Given the description of an element on the screen output the (x, y) to click on. 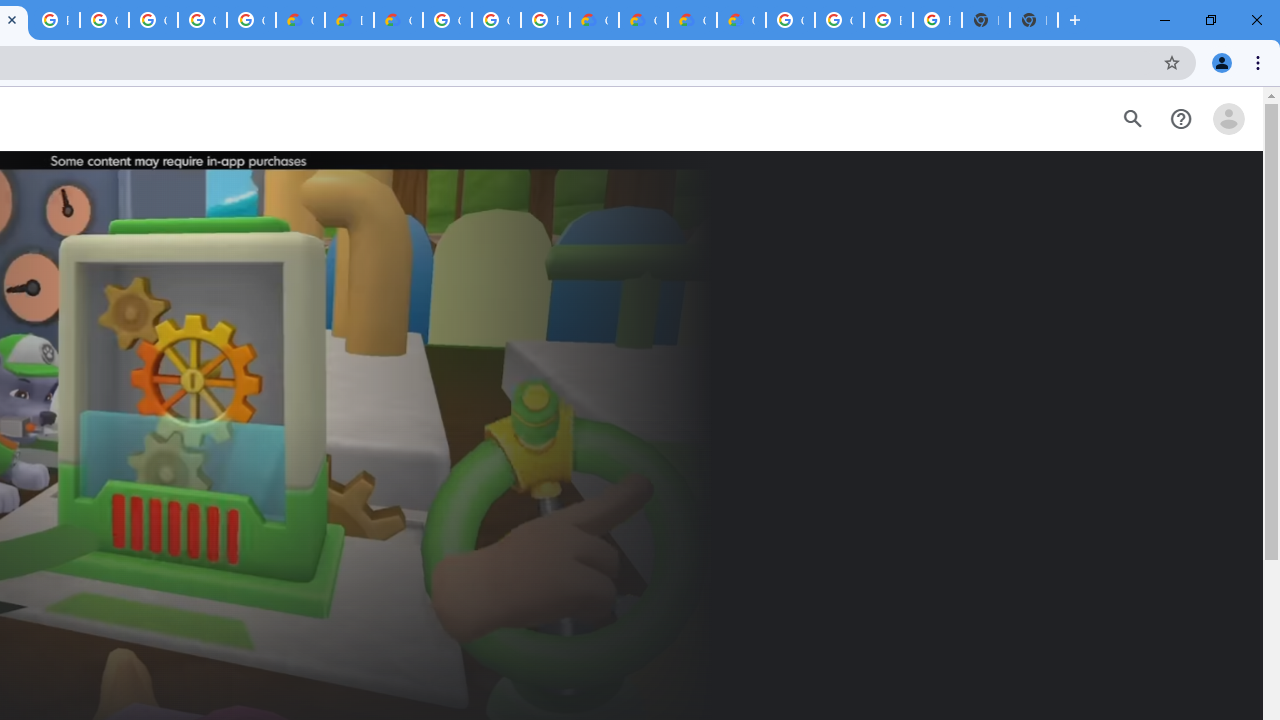
Google Cloud Service Health (740, 20)
Google Cloud Pricing Calculator (643, 20)
Customer Care | Google Cloud (300, 20)
Google Cloud Platform (790, 20)
Google Cloud Platform (447, 20)
New Tab (1033, 20)
